Given the description of an element on the screen output the (x, y) to click on. 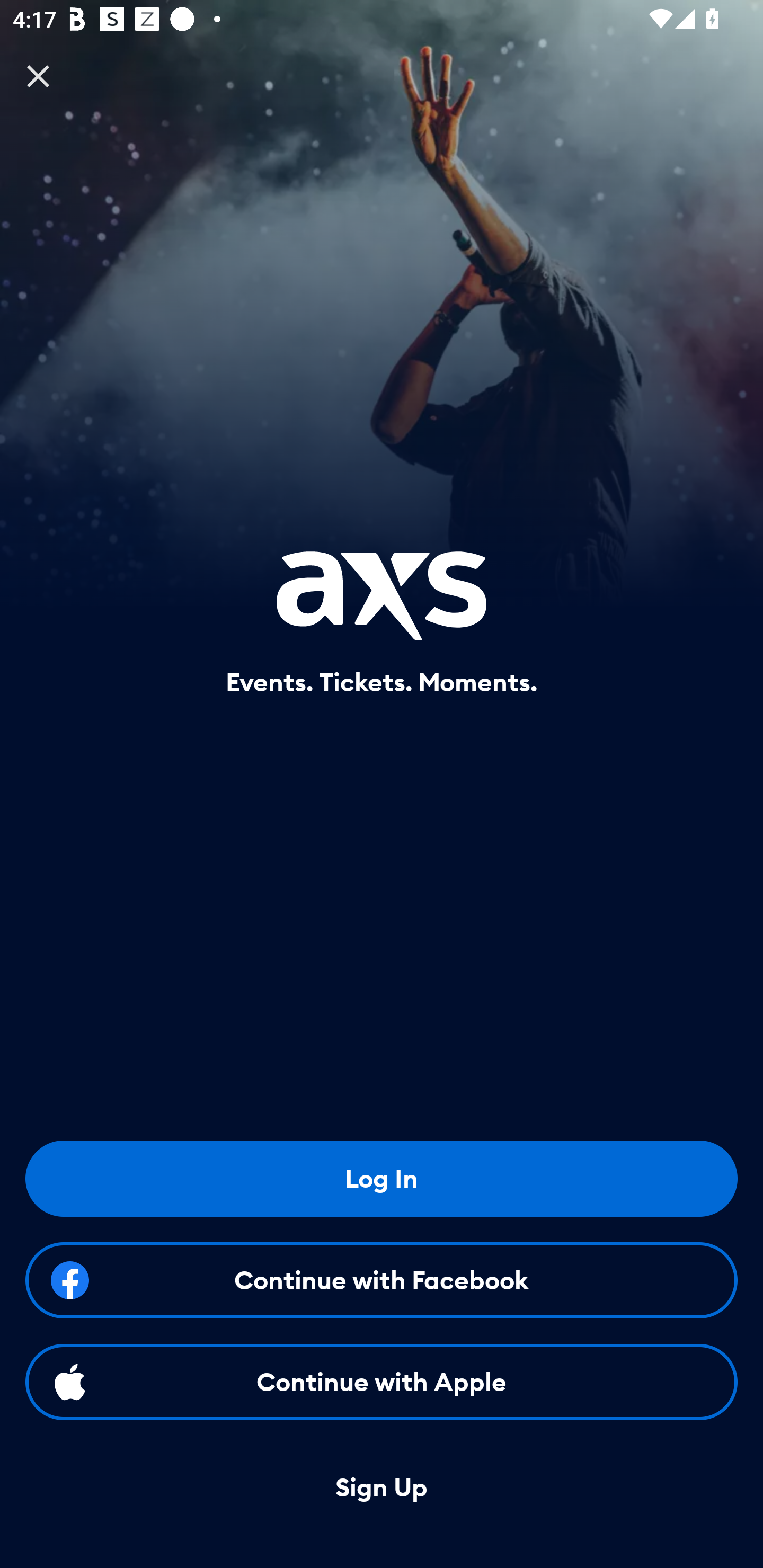
Log In (381, 1177)
Continue with Facebook (381, 1279)
Continue with Apple (381, 1381)
Sign Up (381, 1487)
